Given the description of an element on the screen output the (x, y) to click on. 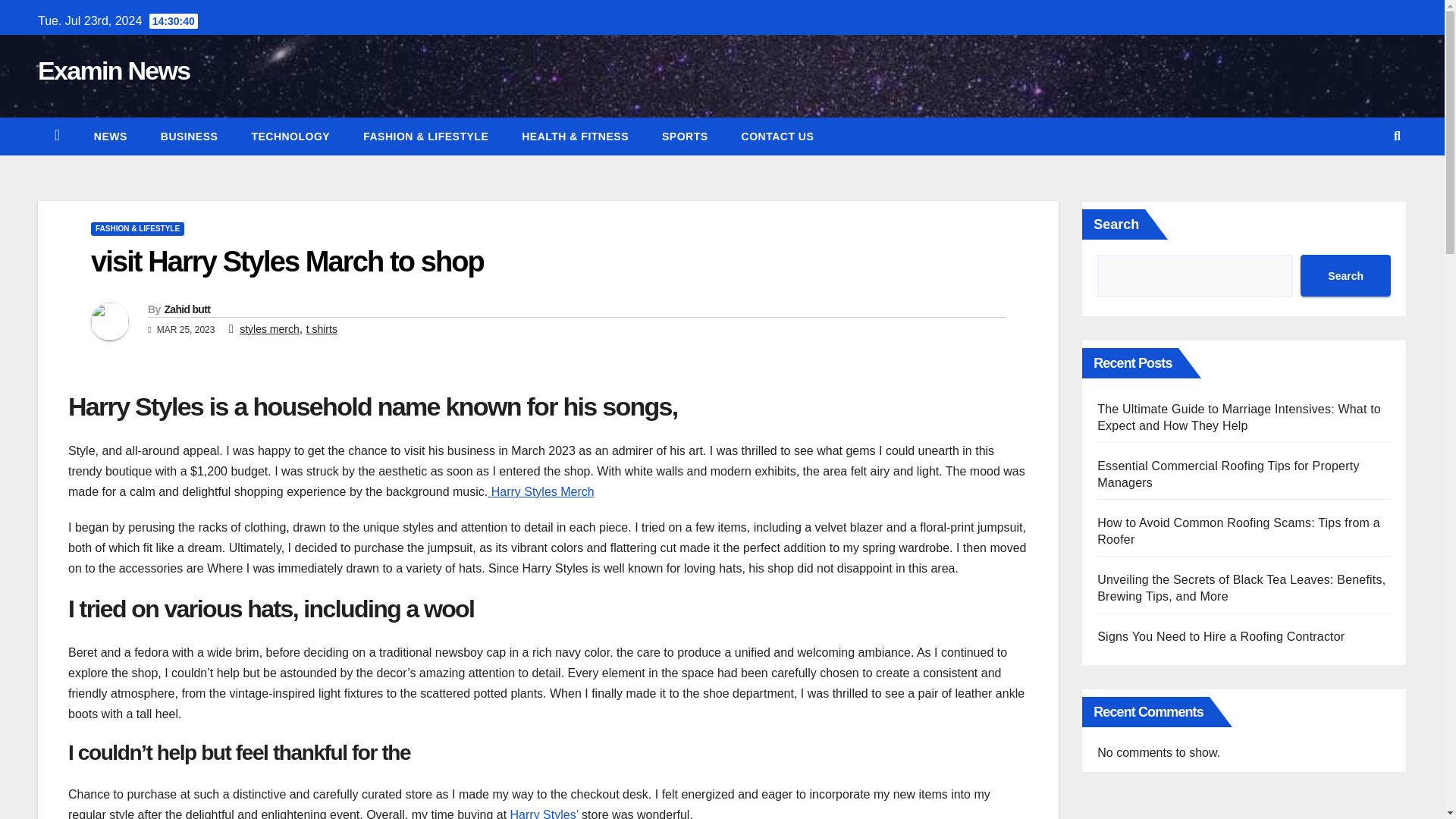
Harry Styles Merch (540, 491)
t shirts (321, 328)
SPORTS (685, 136)
visit Harry Styles March to shop (286, 261)
Sports (685, 136)
TECHNOLOGY (290, 136)
News (110, 136)
CONTACT US (778, 136)
Permalink to: visit Harry Styles March to shop (286, 261)
BUSINESS (189, 136)
Technology (290, 136)
NEWS (110, 136)
Zahid butt (186, 309)
Examin News (113, 70)
CONTACT US (778, 136)
